Given the description of an element on the screen output the (x, y) to click on. 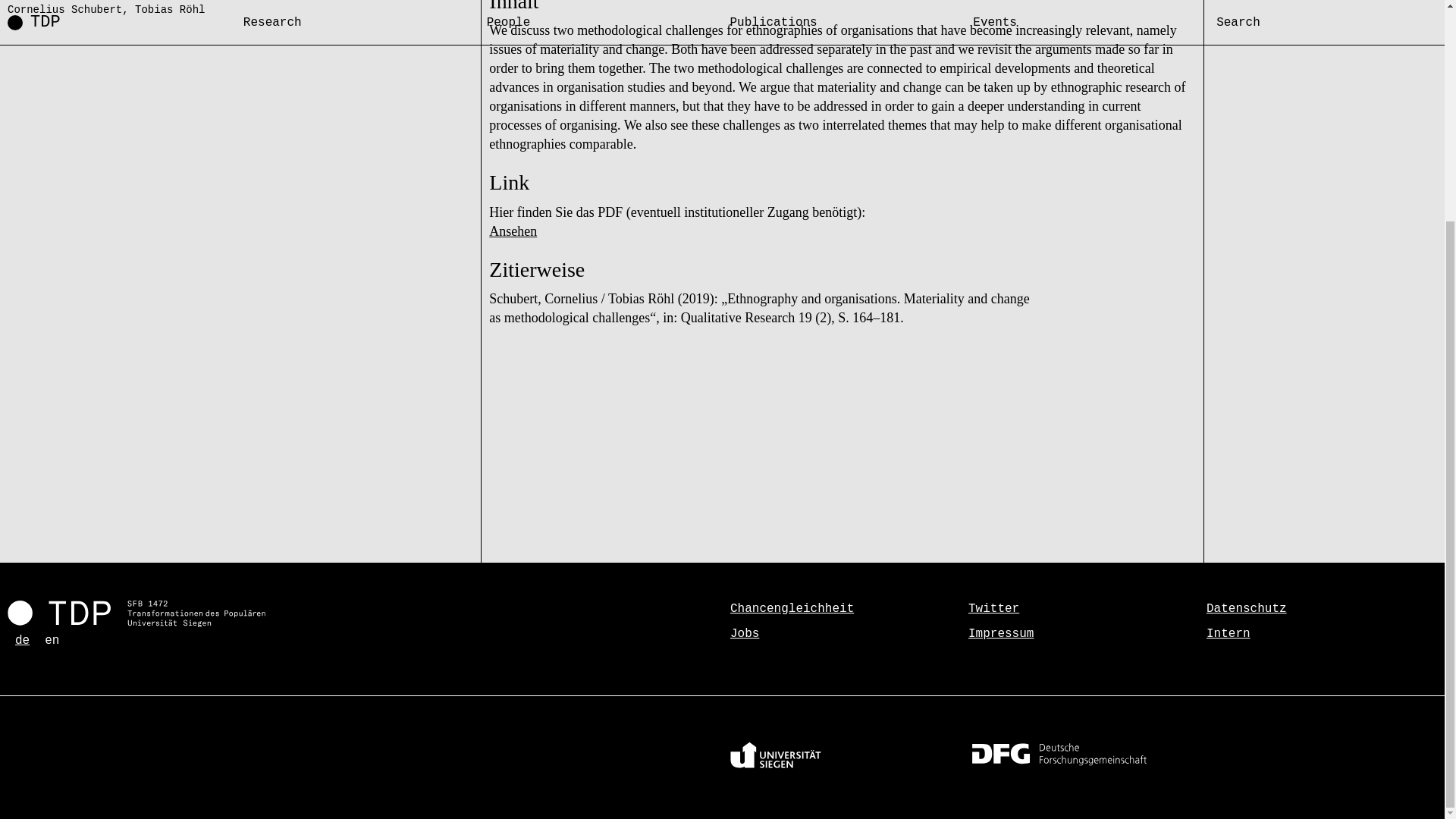
Jobs (744, 633)
Chancengleichheit (791, 608)
Ansehen (513, 231)
Cornelius Schubert (64, 9)
de (21, 640)
Datenschutz (1247, 608)
Impressum (1000, 633)
Twitter (993, 608)
Intern (1228, 633)
